Given the description of an element on the screen output the (x, y) to click on. 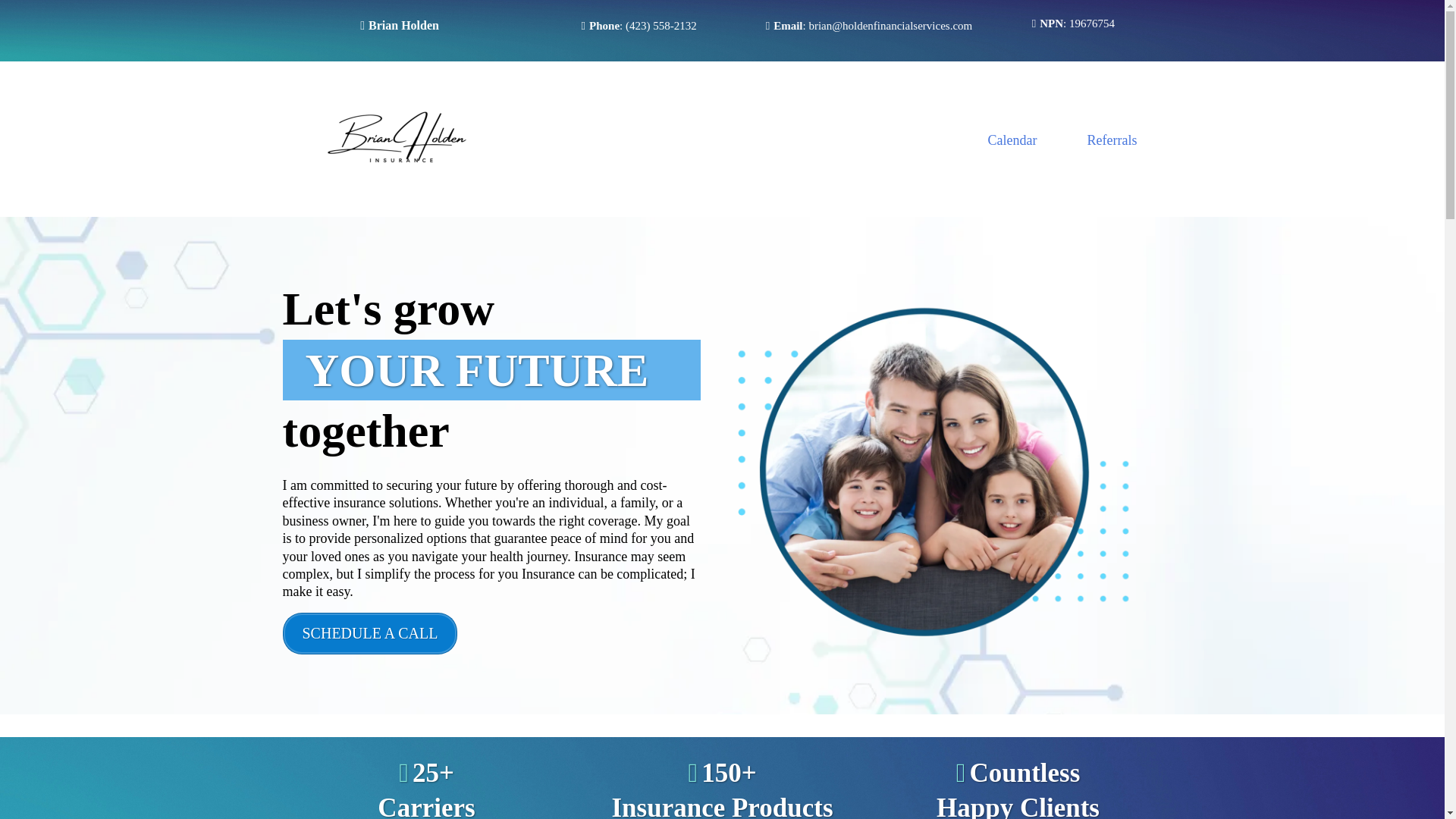
Referrals (1111, 139)
SCHEDULE A CALL (369, 633)
Calendar (1012, 139)
